Given the description of an element on the screen output the (x, y) to click on. 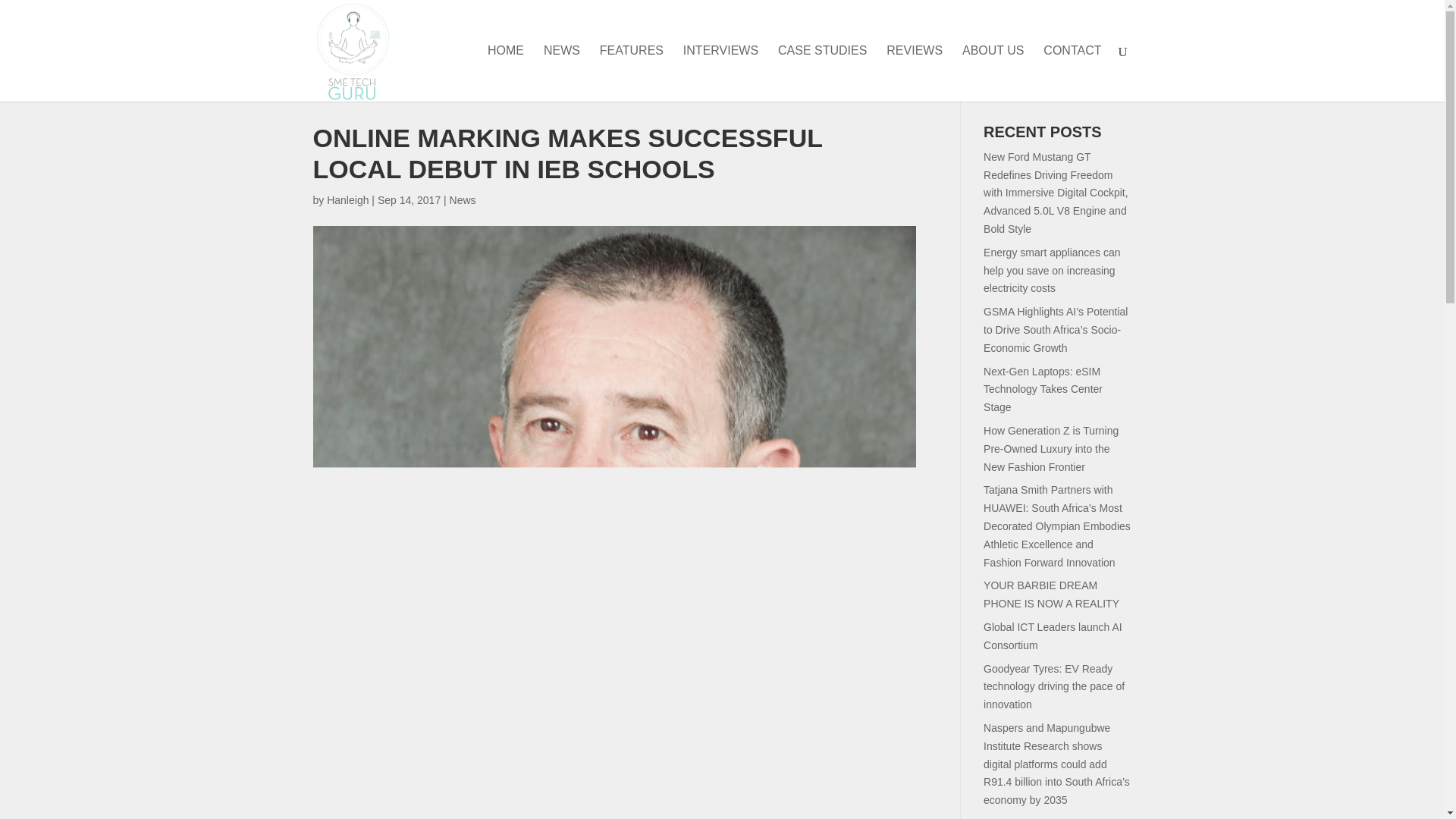
YOUR BARBIE DREAM PHONE IS NOW A REALITY (1051, 594)
FEATURES (631, 73)
Hanleigh (347, 200)
Web Analytics Made Easy - StatCounter (22, 8)
Posts by Hanleigh (347, 200)
Global ICT Leaders launch AI Consortium (1053, 635)
REVIEWS (914, 73)
ABOUT US (993, 73)
